Given the description of an element on the screen output the (x, y) to click on. 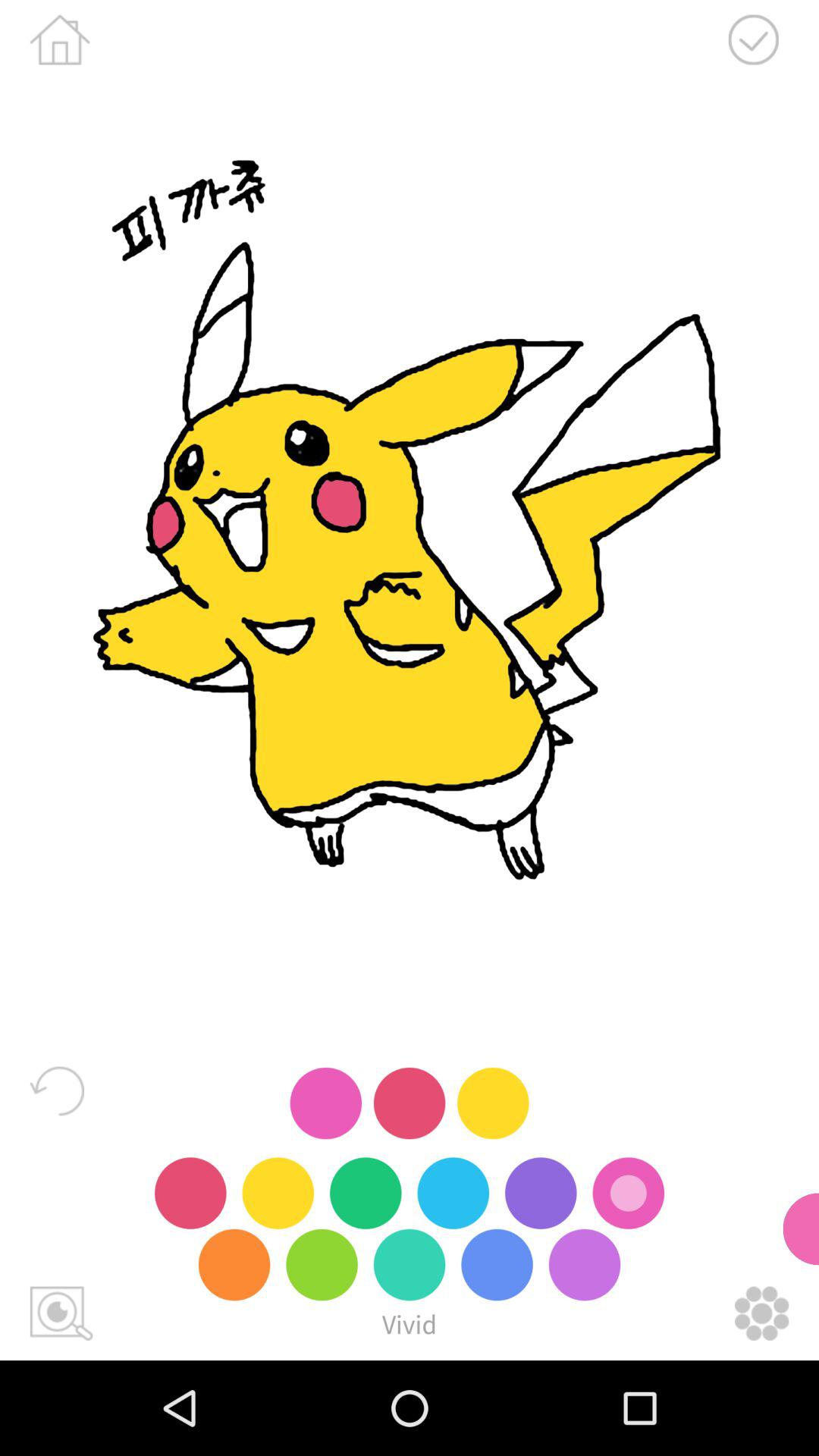
undo last action (57, 1090)
